Given the description of an element on the screen output the (x, y) to click on. 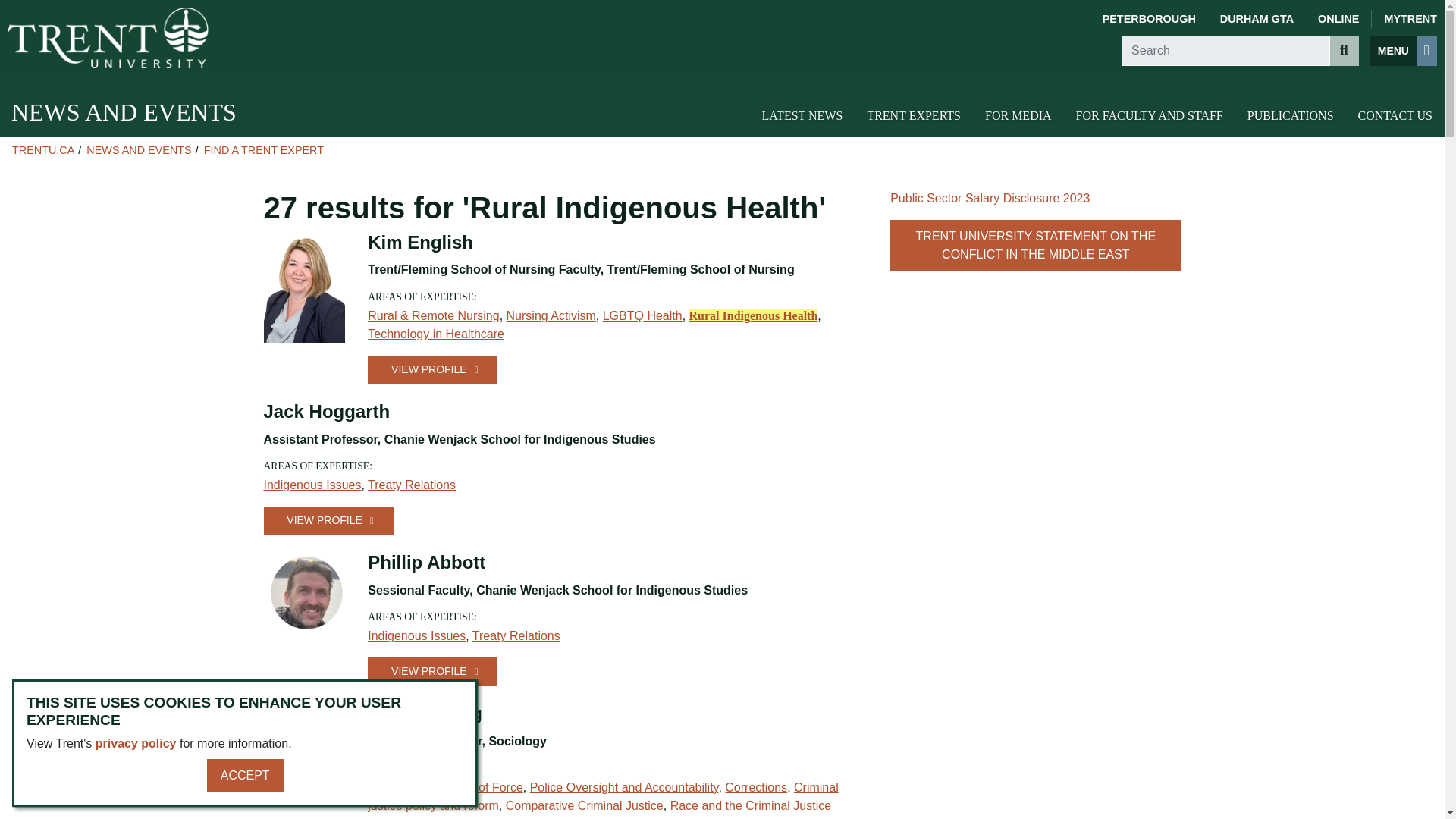
View Profile of Kim English (432, 369)
Main Menu (1403, 51)
Home (107, 37)
View Profile of Jack Hoggarth (328, 520)
View Profile of Phillip Abbott (432, 671)
